Given the description of an element on the screen output the (x, y) to click on. 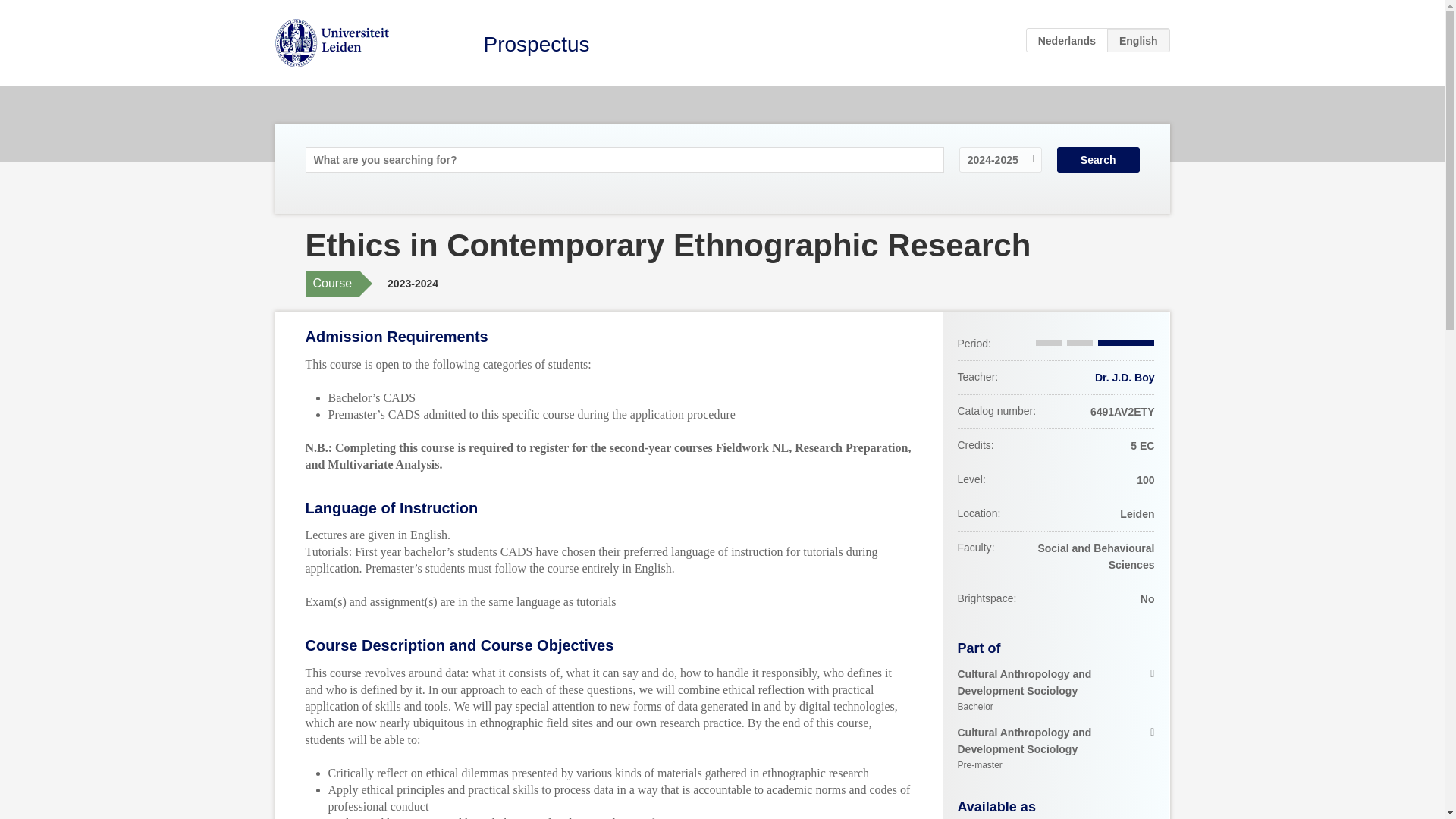
Dr. J.D. Boy (1055, 748)
Search (1124, 377)
NL (1098, 159)
Prospectus (1055, 690)
